Given the description of an element on the screen output the (x, y) to click on. 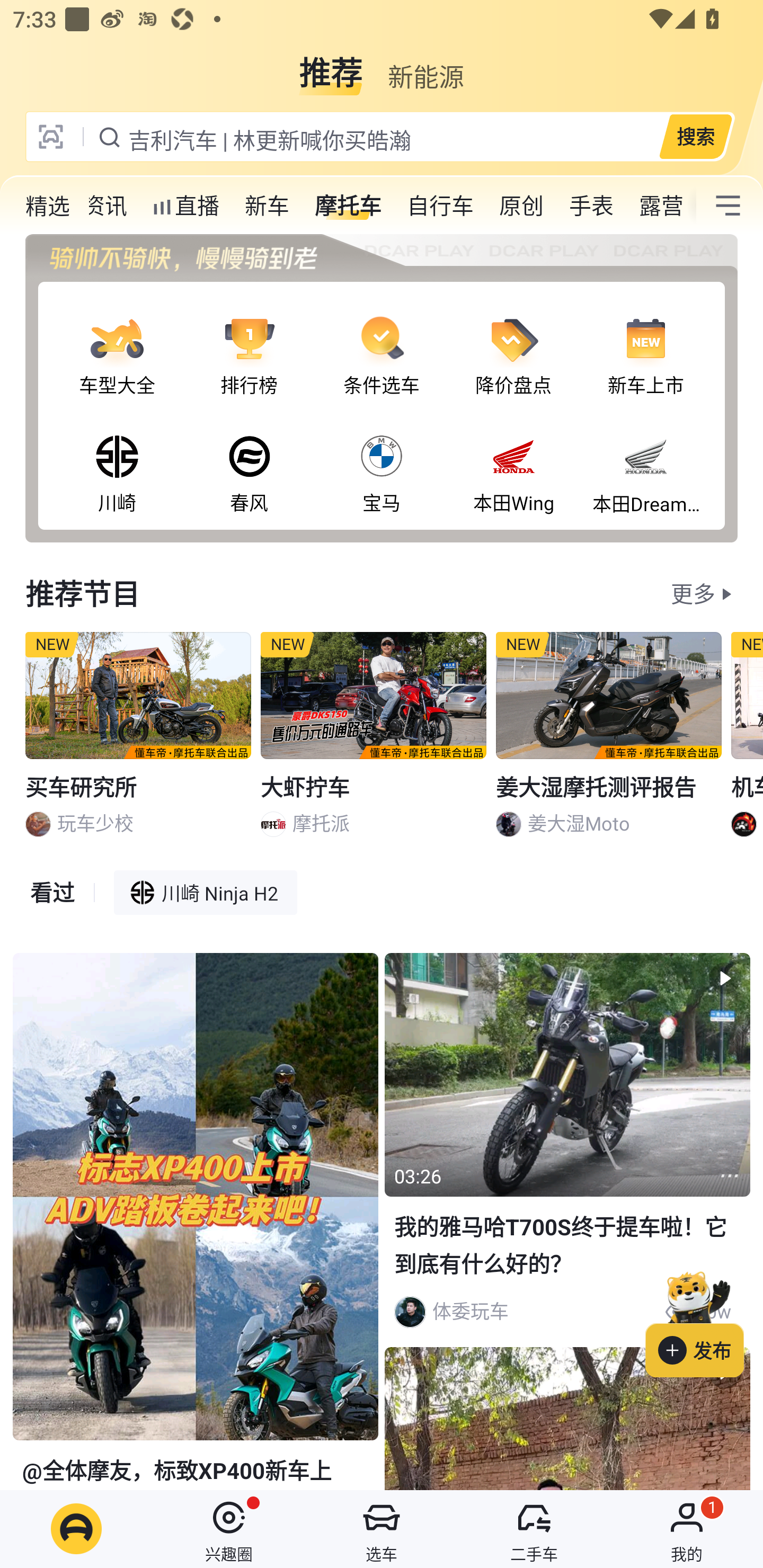
推荐 (330, 65)
新能源 (425, 65)
搜索 (695, 136)
资讯 (104, 205)
直播 (185, 205)
新车 (266, 205)
摩托车 (348, 205)
自行车 (440, 205)
原创 (521, 205)
手表 (591, 205)
露营 (660, 205)
 (727, 205)
精选 (47, 206)
车型大全 (117, 340)
排行榜 (249, 340)
条件选车 (381, 340)
降价盘点 (513, 340)
新车上市 (645, 340)
川崎 (117, 458)
春风 (249, 458)
宝马 (381, 458)
本田Wing (513, 458)
本田DreamWing (645, 458)
更多 (692, 593)
NEW 买车研究所 玩车少校 (138, 741)
NEW 大虾拧车 摩托派 (373, 741)
NEW 姜大湿摩托测评报告 姜大湿Moto (608, 741)
川崎 Ninja H2 (205, 892)
@全体摩友，标致XP400新车上市，试驾体验抢先看！ (195, 1221)
 03:26  我的雅马哈T700S终于提车啦！它到底有什么好的？ 体委玩车 < >4.0w (567, 1146)
 (729, 1175)
发布 (704, 1320)
 兴趣圈 (228, 1528)
 选车 (381, 1528)
 二手车 (533, 1528)
 我的 (686, 1528)
